Given the description of an element on the screen output the (x, y) to click on. 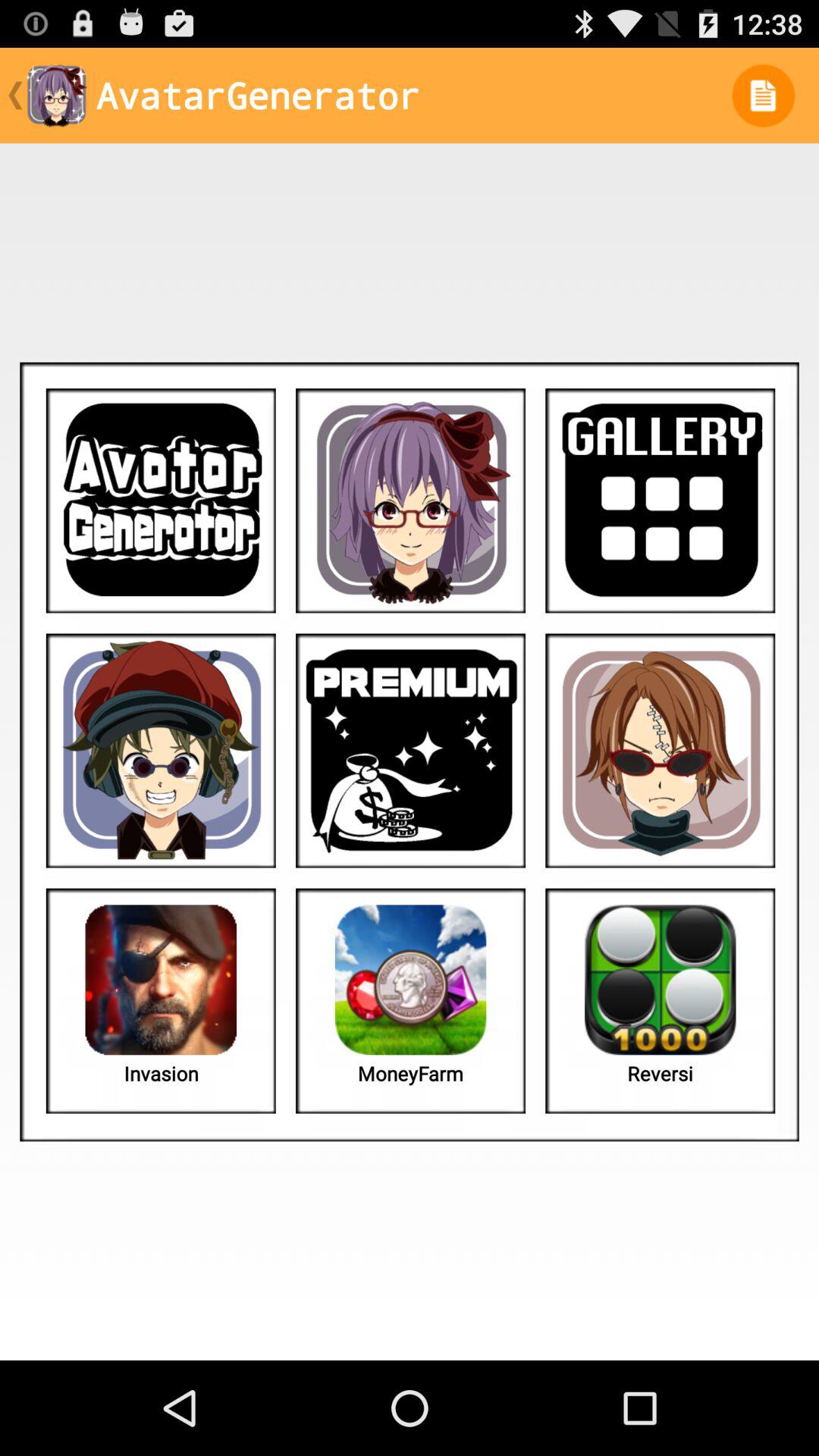
go to game blay button (160, 500)
